Given the description of an element on the screen output the (x, y) to click on. 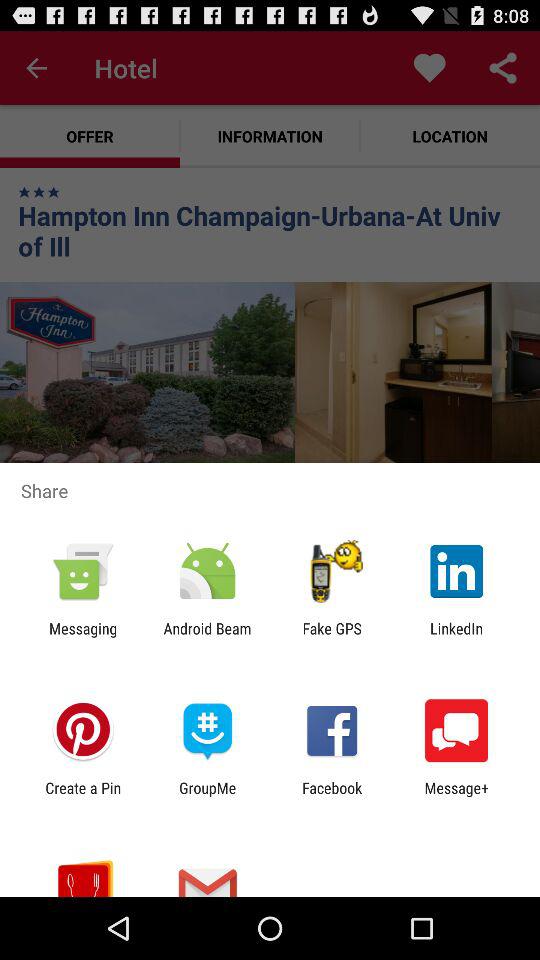
select the icon to the right of the facebook (456, 796)
